Given the description of an element on the screen output the (x, y) to click on. 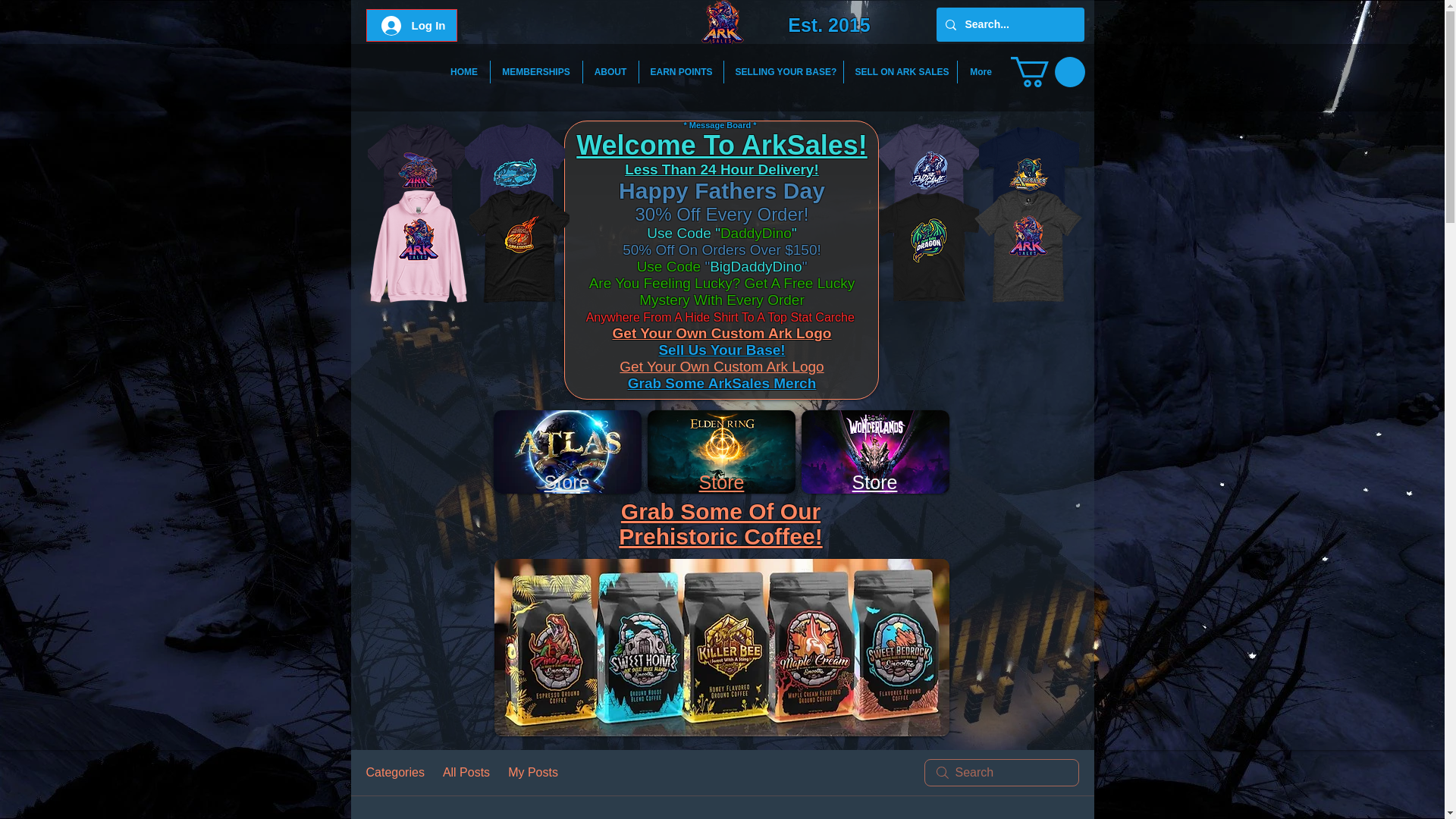
Grab Some Of Our Prehistoric Coffee! (720, 523)
wop7hg2ozh471.png (566, 451)
SELL ON ARK SALES (899, 71)
Sell Us Your Base! (721, 349)
Store (721, 482)
Store (566, 482)
og (813, 333)
MEMBERSHIPS (534, 71)
Store (874, 482)
EARN POINTS (680, 71)
Get Your Own Custom Ark L (708, 333)
SELLING YOUR BASE? (783, 71)
Log In (412, 24)
ABOUT (609, 71)
HOME (463, 71)
